Given the description of an element on the screen output the (x, y) to click on. 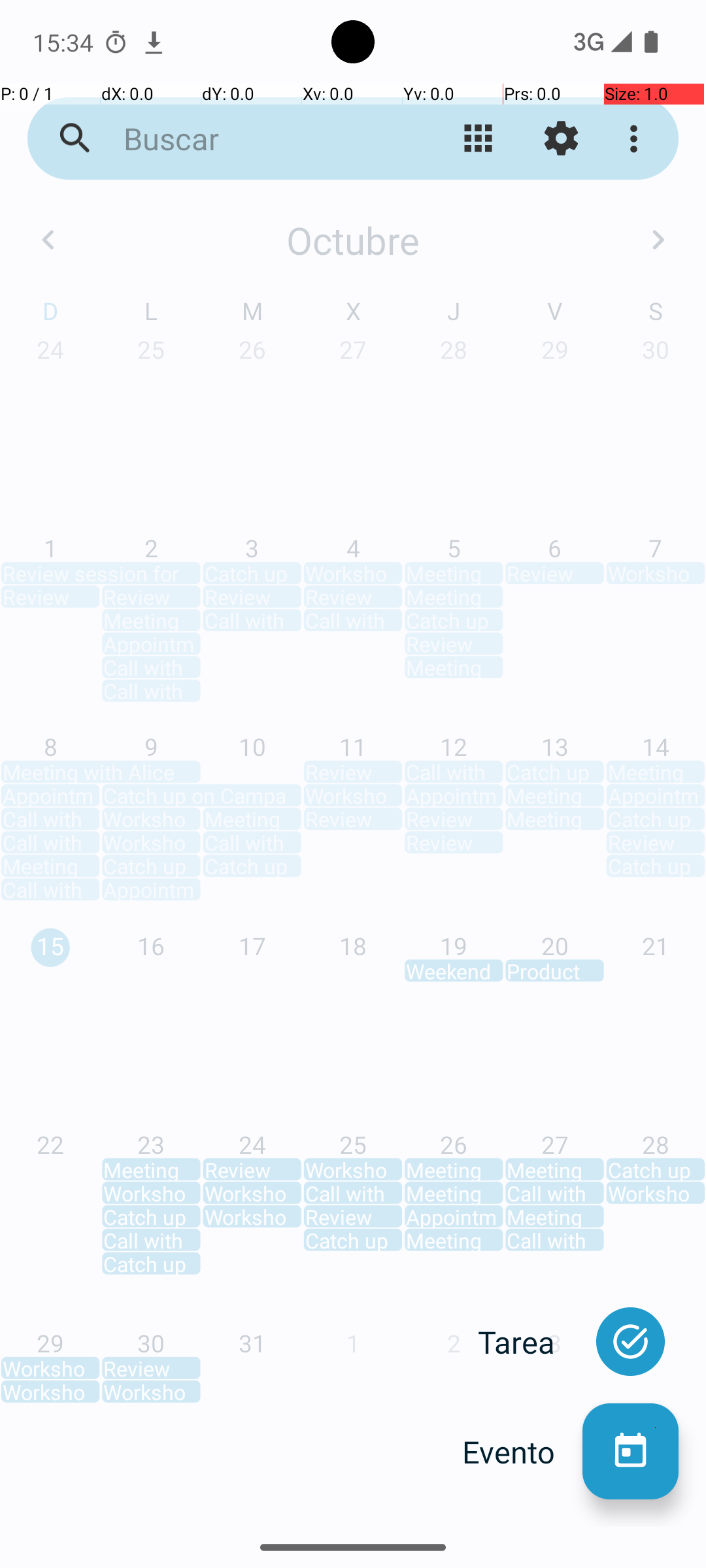
Tarea Element type: android.widget.TextView (529, 1341)
Evento Element type: android.widget.TextView (522, 1451)
